Given the description of an element on the screen output the (x, y) to click on. 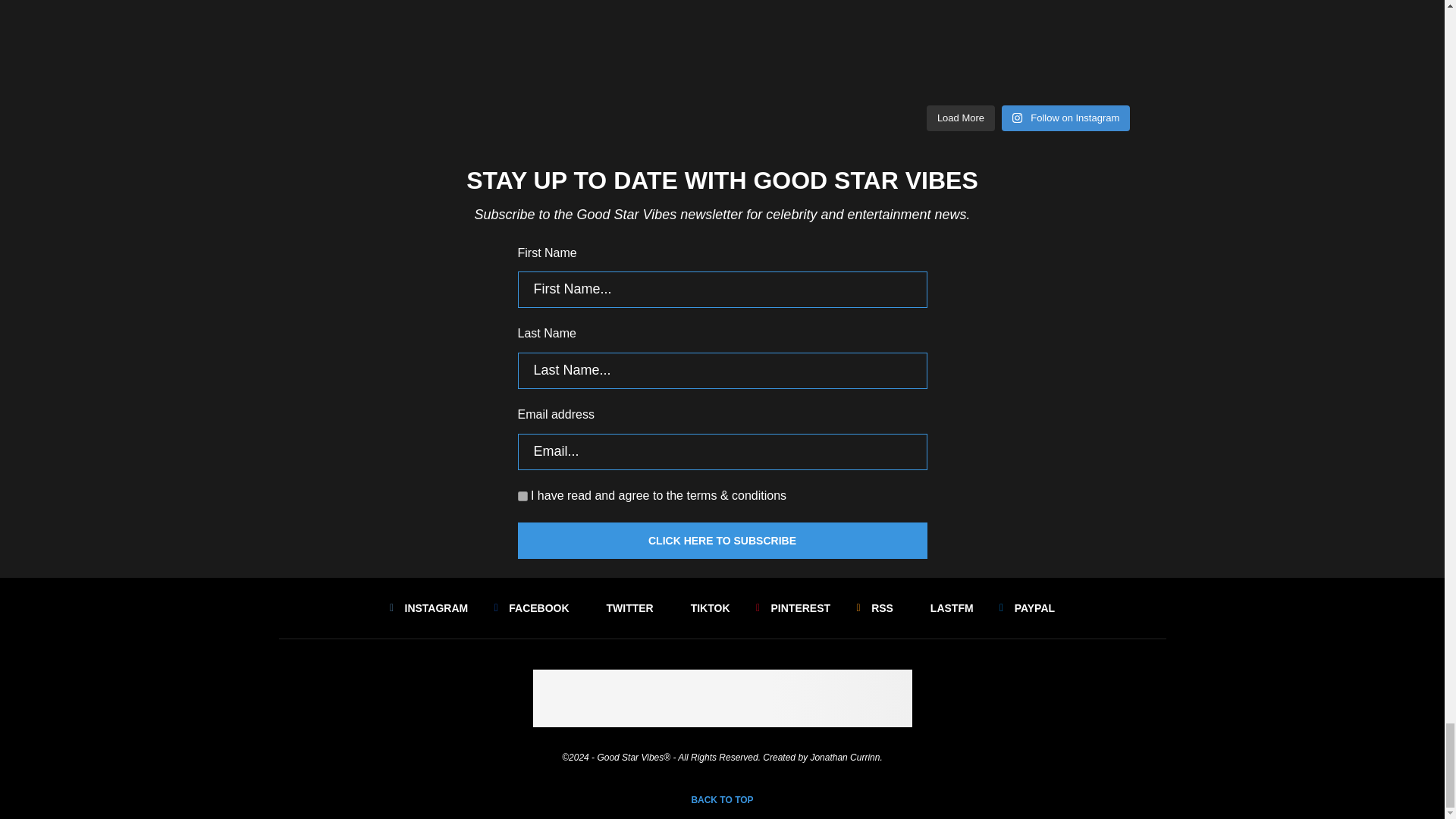
1 (521, 496)
Click here to subscribe (721, 540)
